Given the description of an element on the screen output the (x, y) to click on. 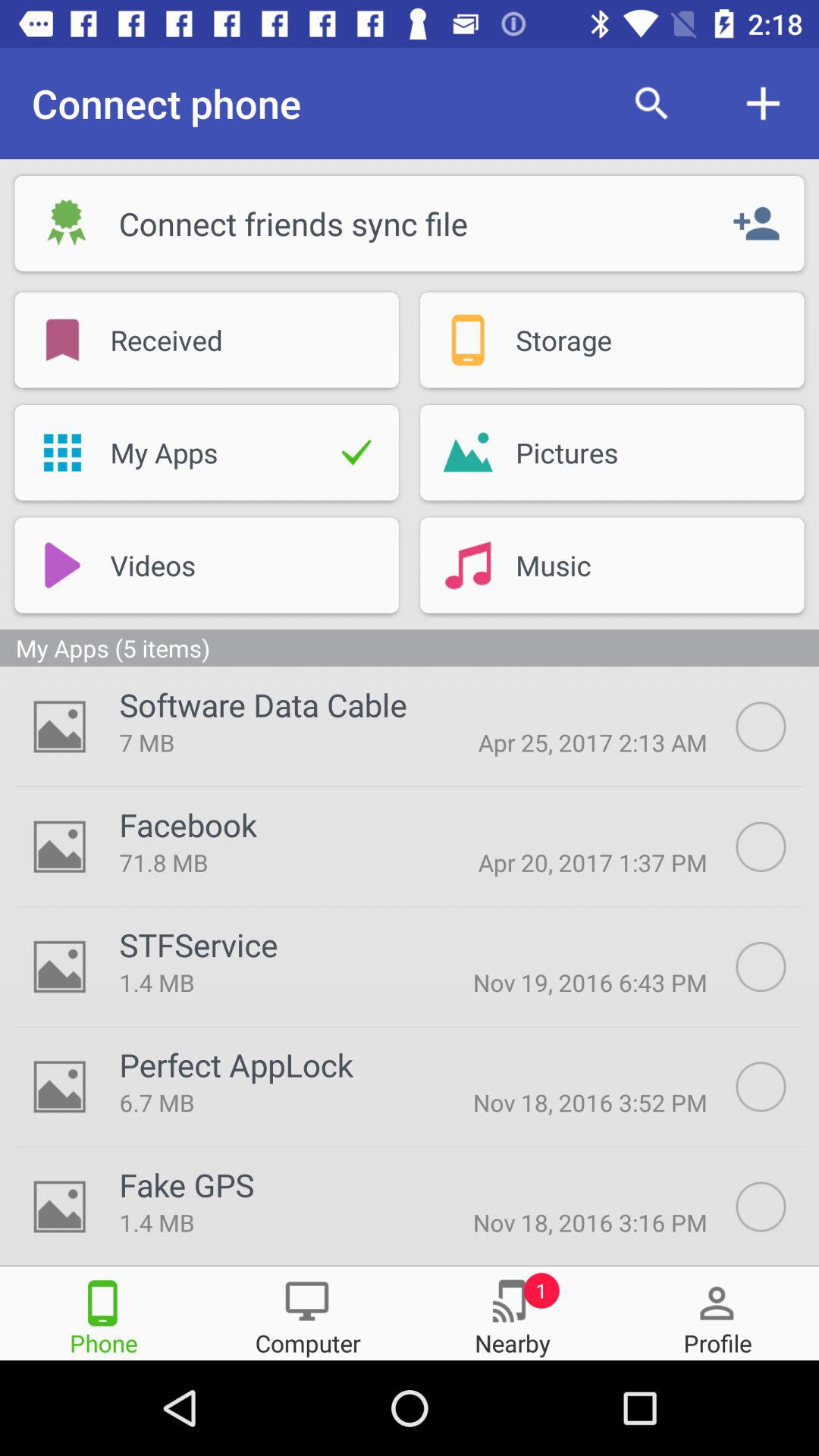
turn off the item above the my apps 5 app (467, 565)
